Given the description of an element on the screen output the (x, y) to click on. 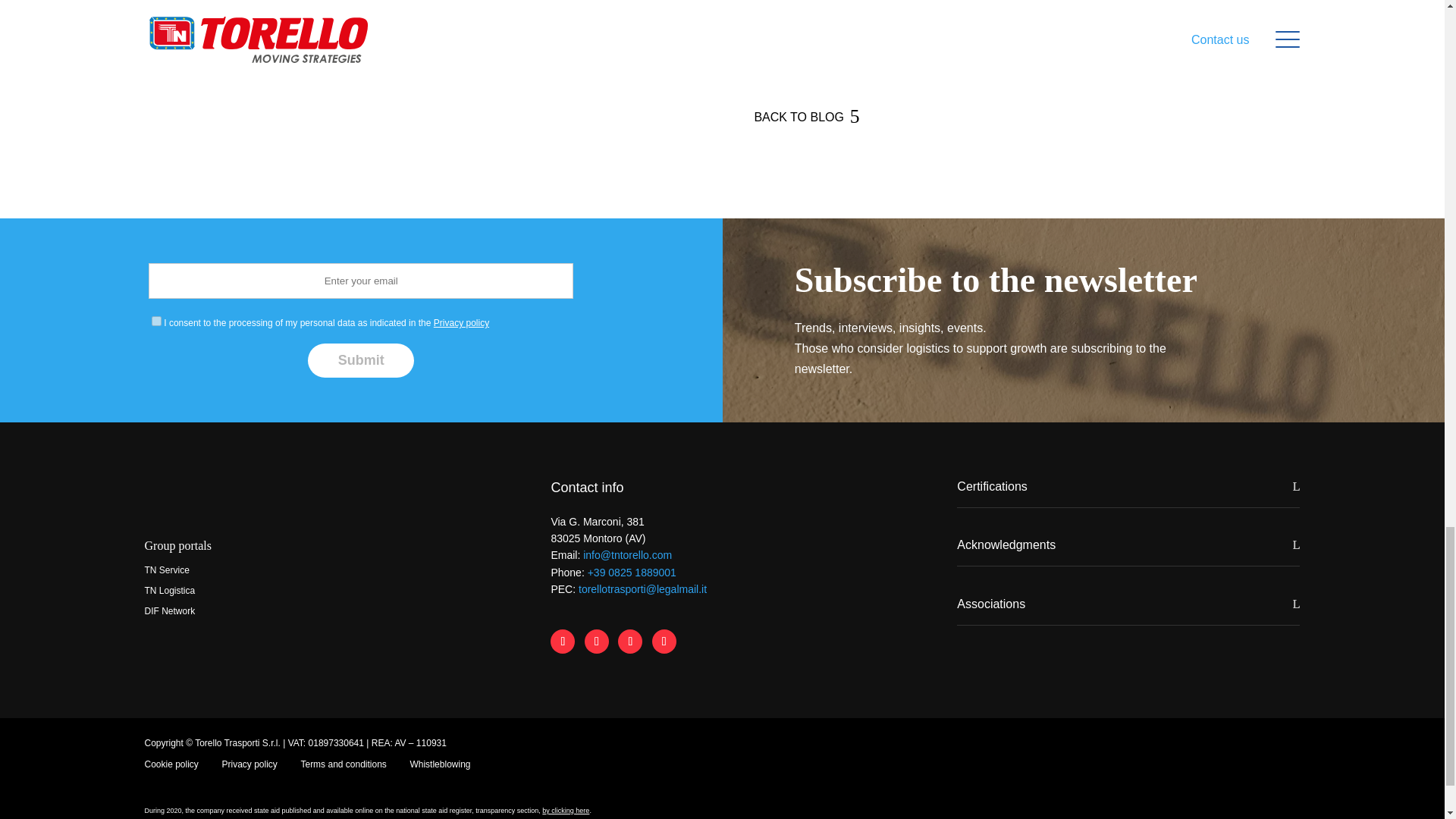
Submit (360, 360)
BACK TO BLOG (799, 117)
TN Service (166, 570)
Follow on Youtube (664, 641)
Follow on Facebook (562, 641)
Follow on Instagram (629, 641)
Submit (360, 360)
Privacy policy (461, 322)
DIF Network (169, 611)
crearts-logo-a-white (1290, 742)
